Given the description of an element on the screen output the (x, y) to click on. 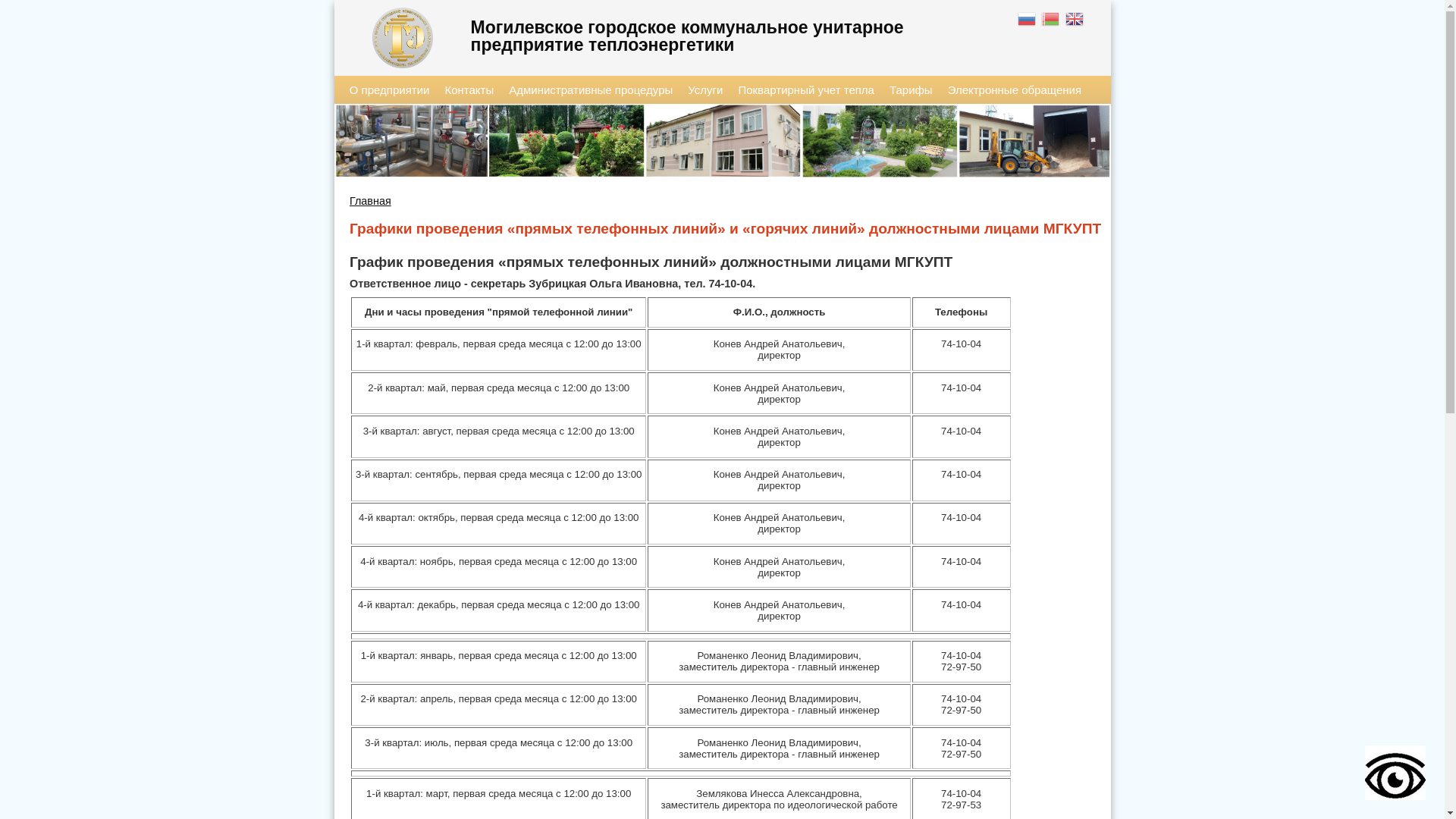
Russian Element type: hover (1027, 20)
Belarusian Element type: hover (1051, 20)
English Element type: hover (1074, 20)
